Given the description of an element on the screen output the (x, y) to click on. 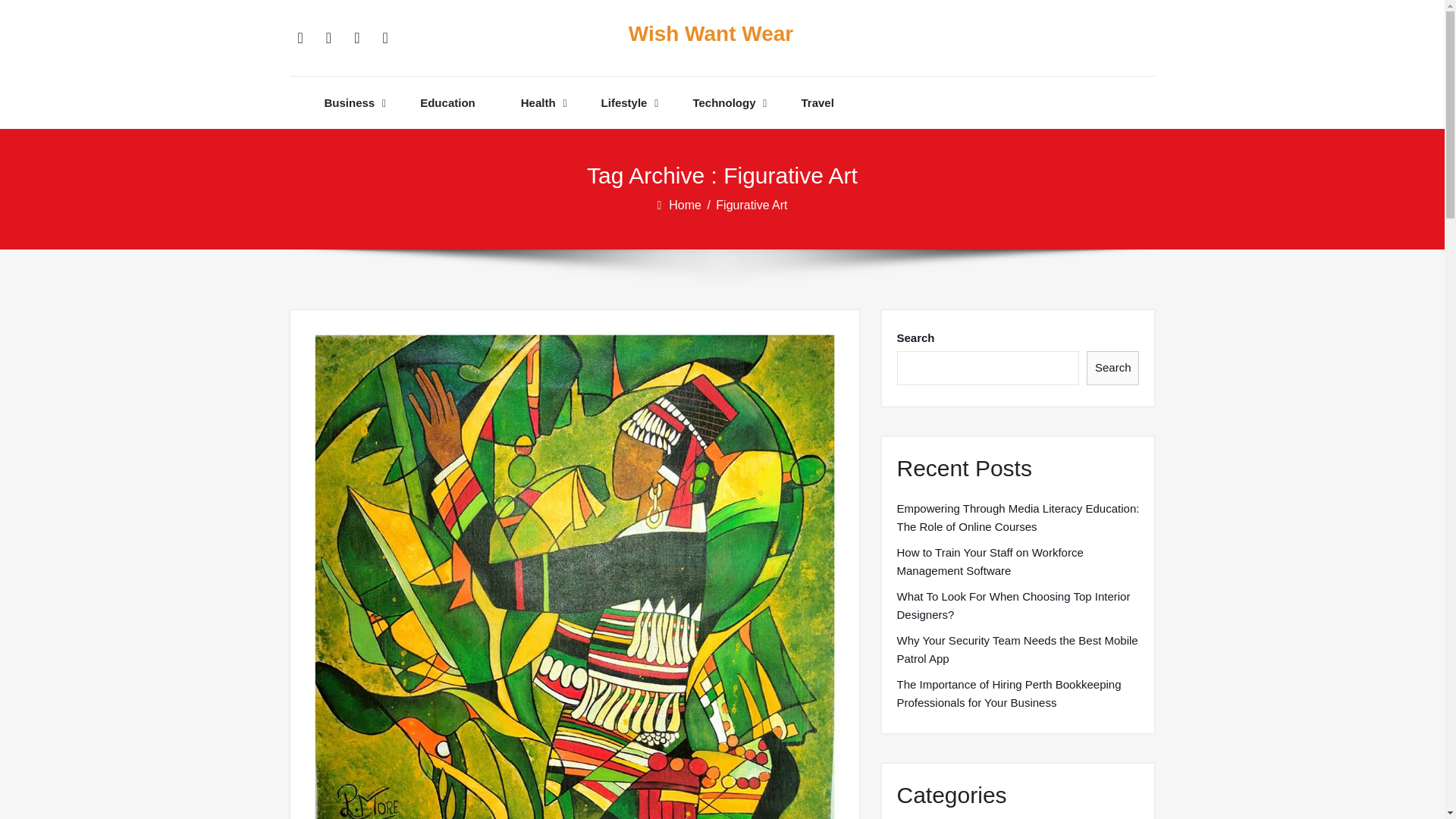
Why Your Security Team Needs the Best Mobile Patrol App (1017, 649)
Education (448, 102)
Home (685, 205)
Wish Want Wear (710, 34)
How to Train Your Staff on Workforce Management Software (1017, 561)
Technology (724, 102)
What To Look For When Choosing Top Interior Designers? (1017, 606)
Search (1113, 367)
Business (349, 102)
